Given the description of an element on the screen output the (x, y) to click on. 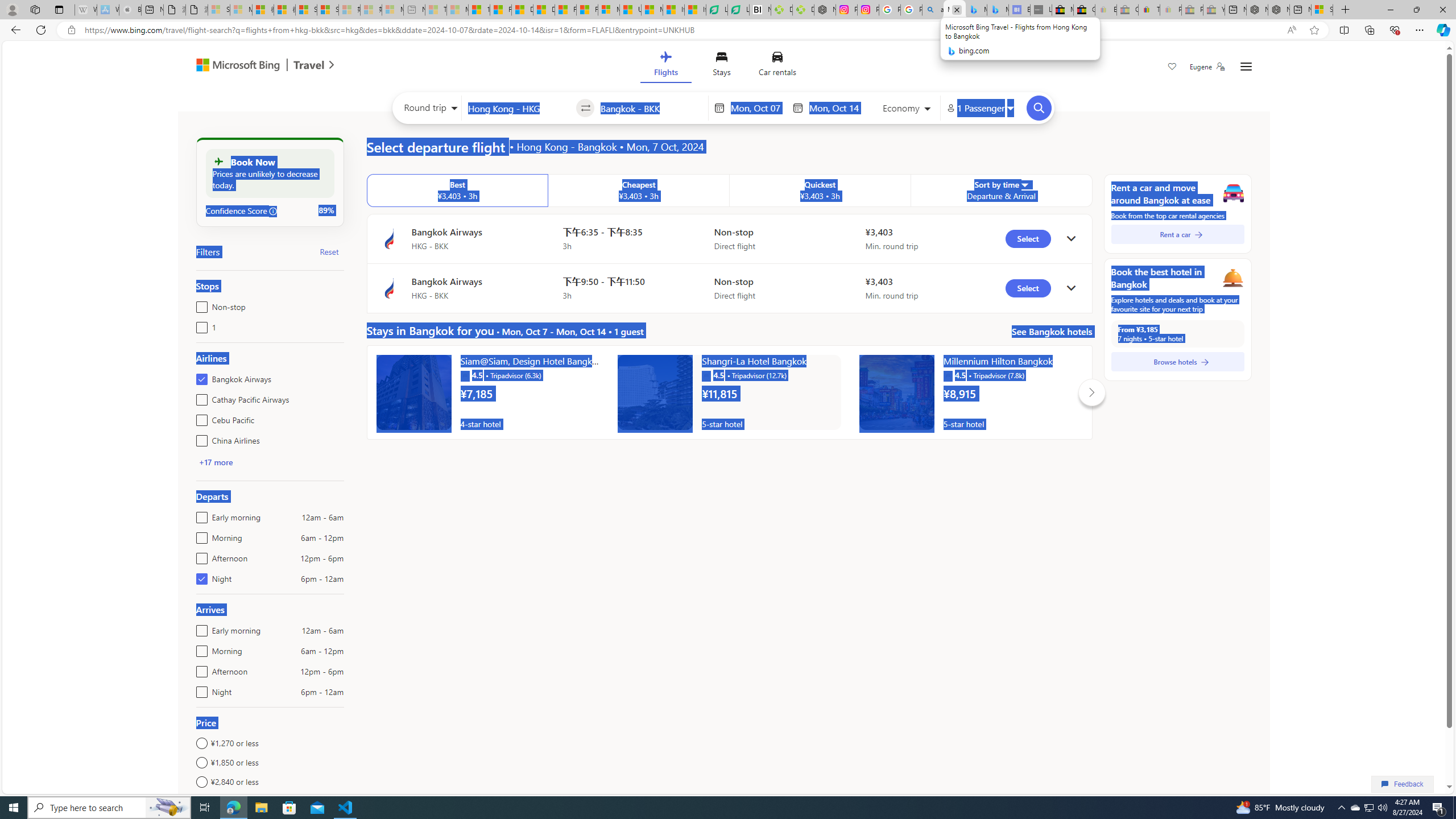
1 (199, 325)
Start Date (758, 107)
Save (1171, 67)
click to get details (1070, 288)
China Airlines (199, 438)
LendingTree - Compare Lenders (738, 9)
Click to scroll right (1091, 392)
Class: msft-travel-logo (308, 64)
Leaving from? (518, 107)
